Given the description of an element on the screen output the (x, y) to click on. 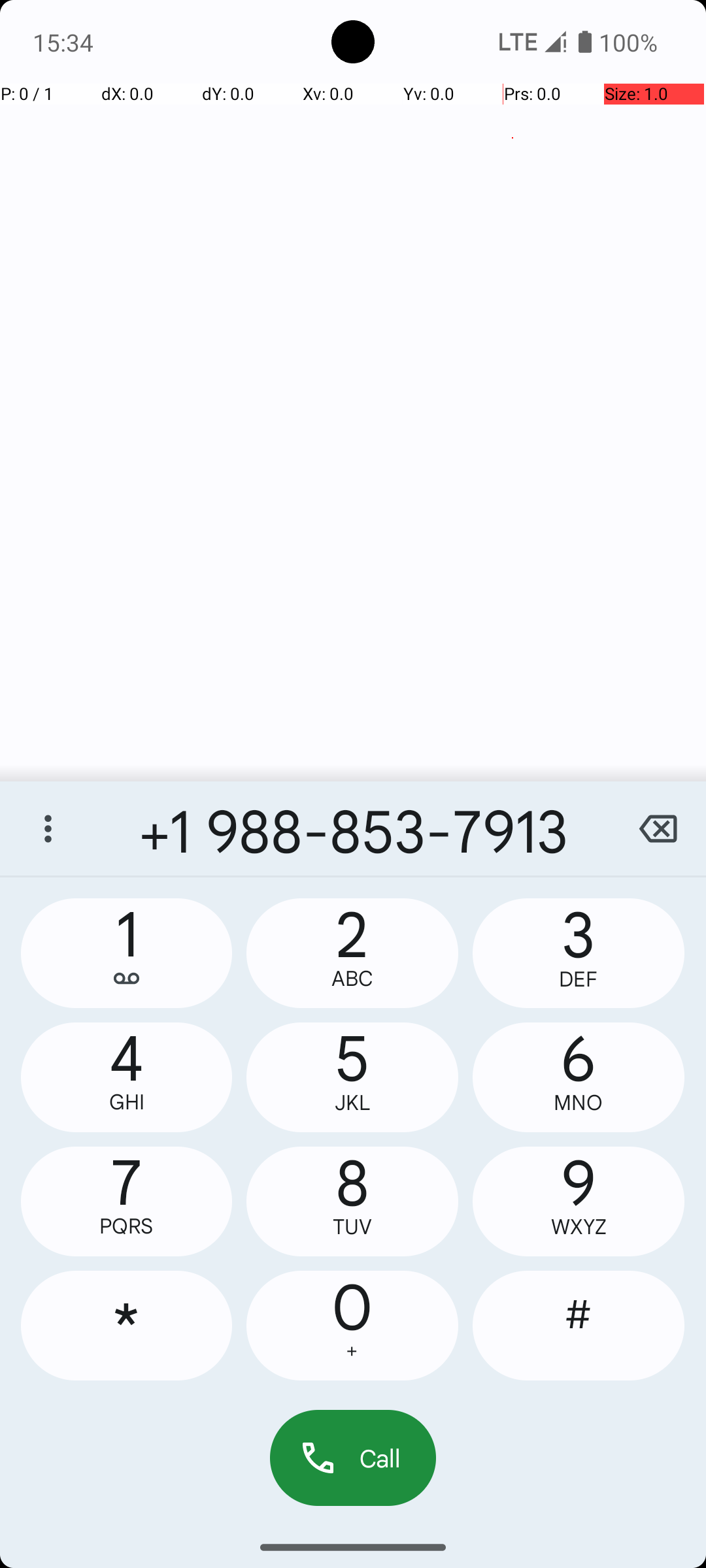
+1 988-853-7913 Element type: android.widget.EditText (352, 828)
